Given the description of an element on the screen output the (x, y) to click on. 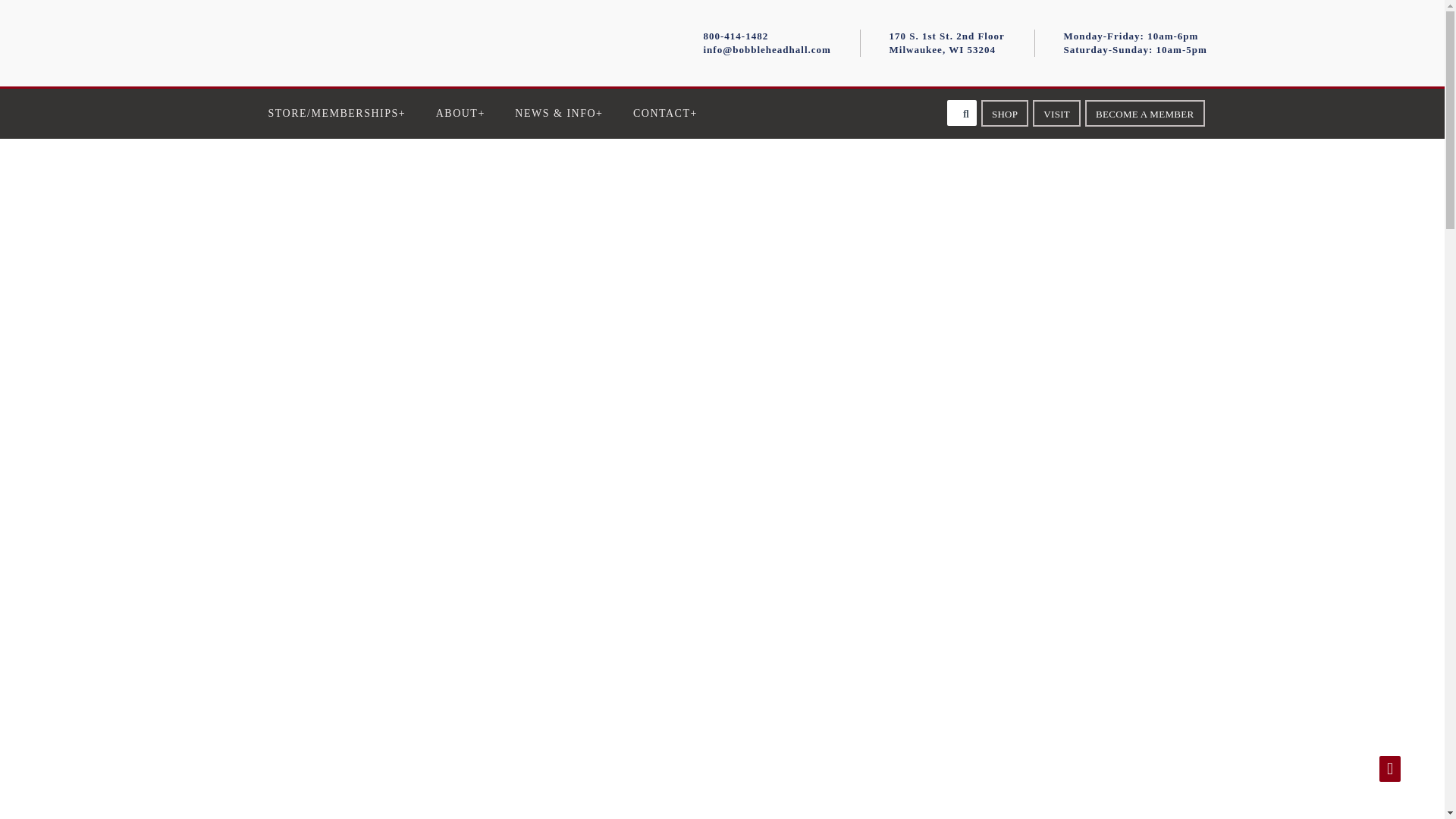
800-414-1482 (735, 35)
ABOUT (460, 113)
CONTACT (665, 113)
